Given the description of an element on the screen output the (x, y) to click on. 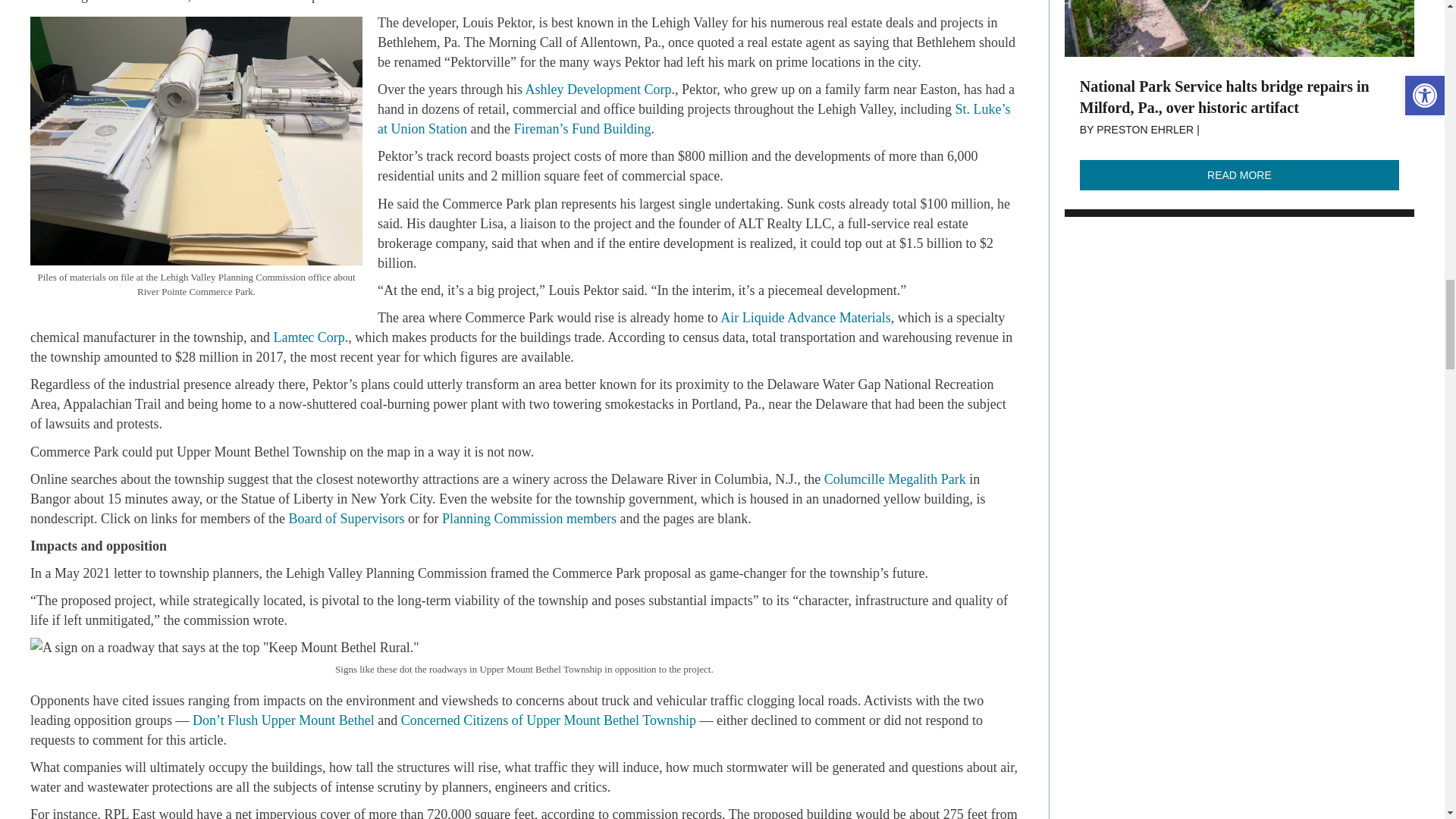
DSCF7814 (1238, 28)
